Given the description of an element on the screen output the (x, y) to click on. 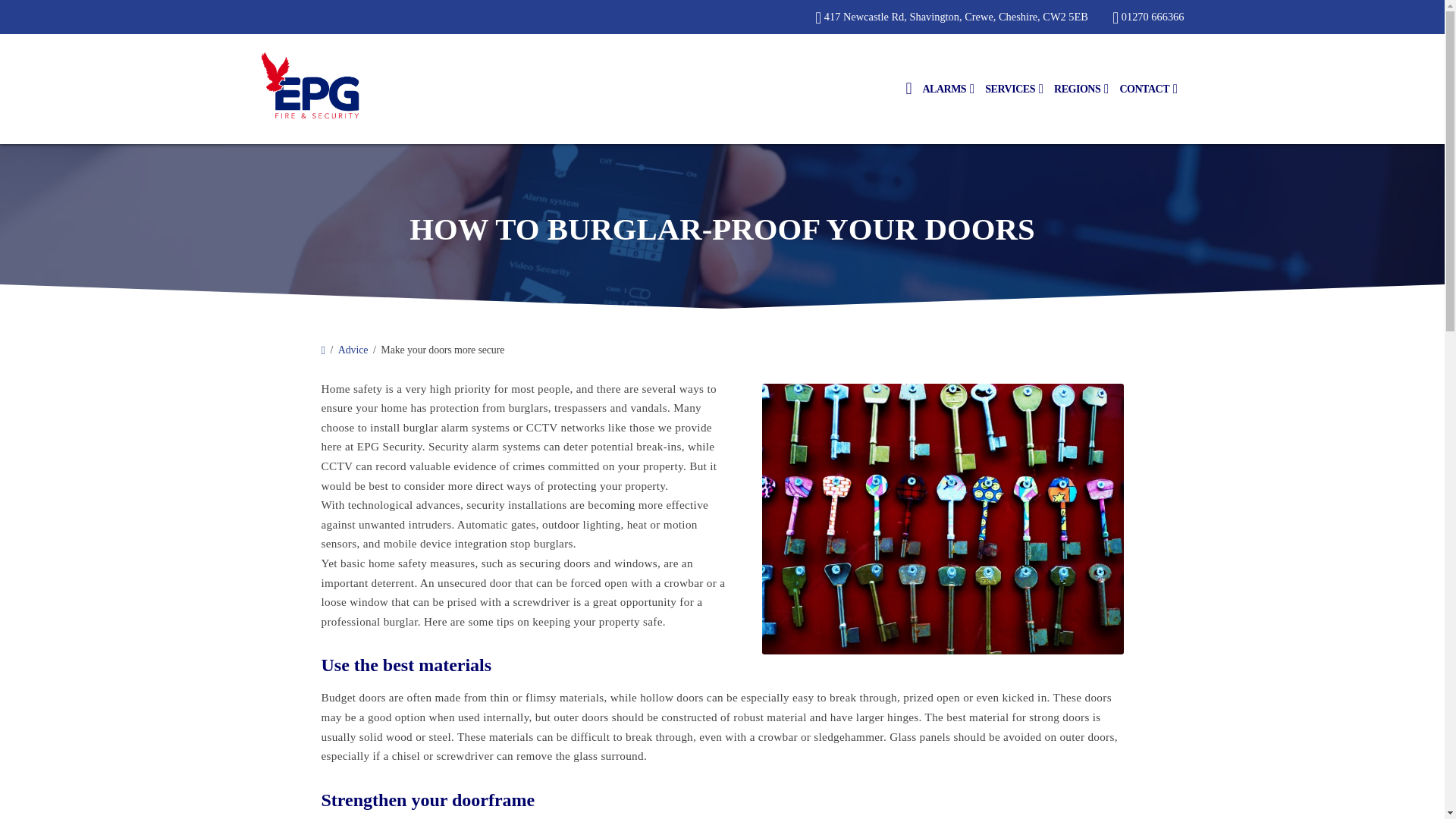
Advice (352, 349)
